Given the description of an element on the screen output the (x, y) to click on. 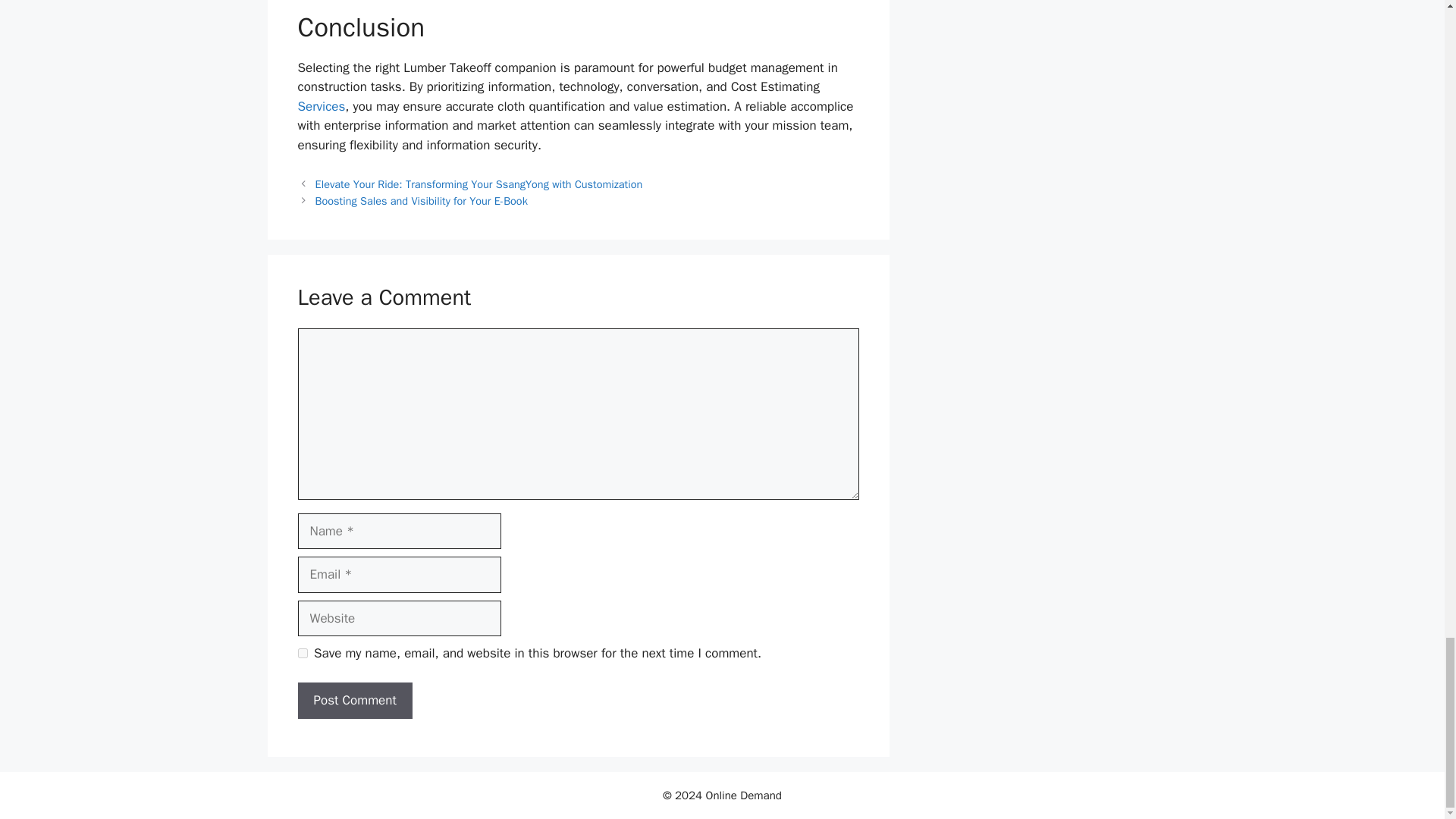
yes (302, 653)
Services (321, 106)
Post Comment (354, 700)
Boosting Sales and Visibility for Your E-Book (421, 201)
Post Comment (354, 700)
